Given the description of an element on the screen output the (x, y) to click on. 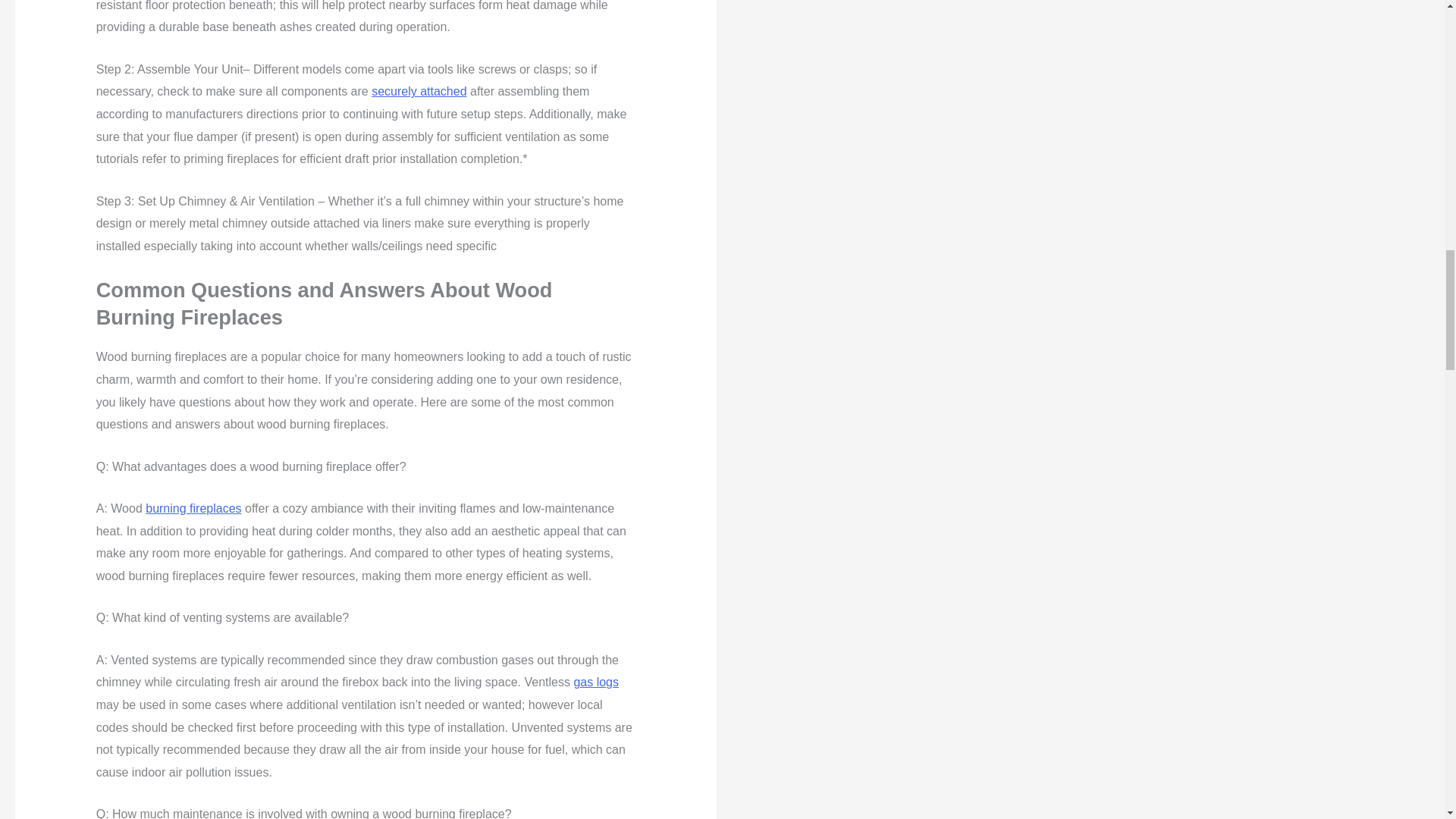
gas logs (595, 681)
burning fireplaces (193, 508)
securely attached (418, 91)
